Given the description of an element on the screen output the (x, y) to click on. 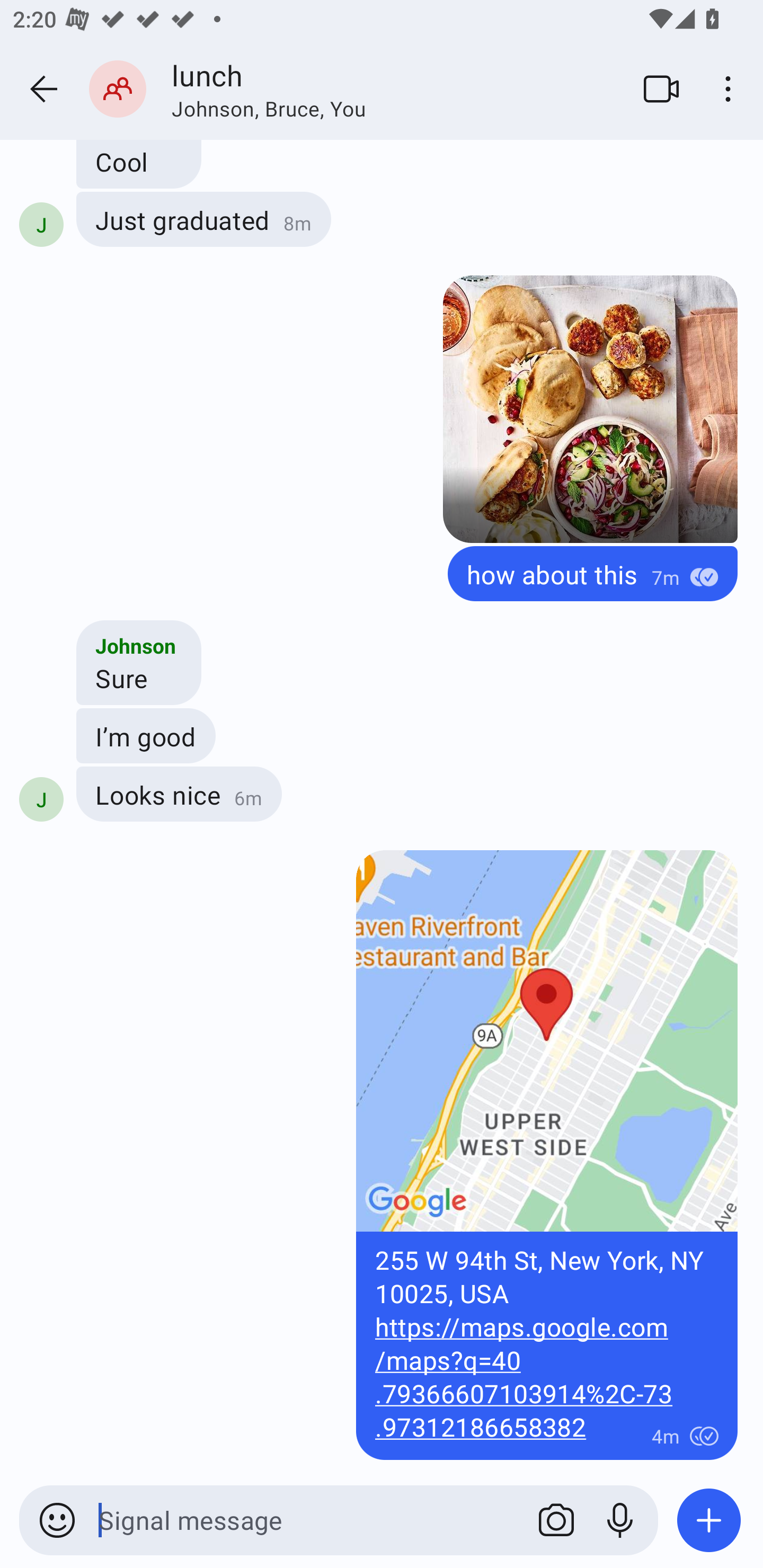
Toggle emoji keyboard (57, 1519)
